Given the description of an element on the screen output the (x, y) to click on. 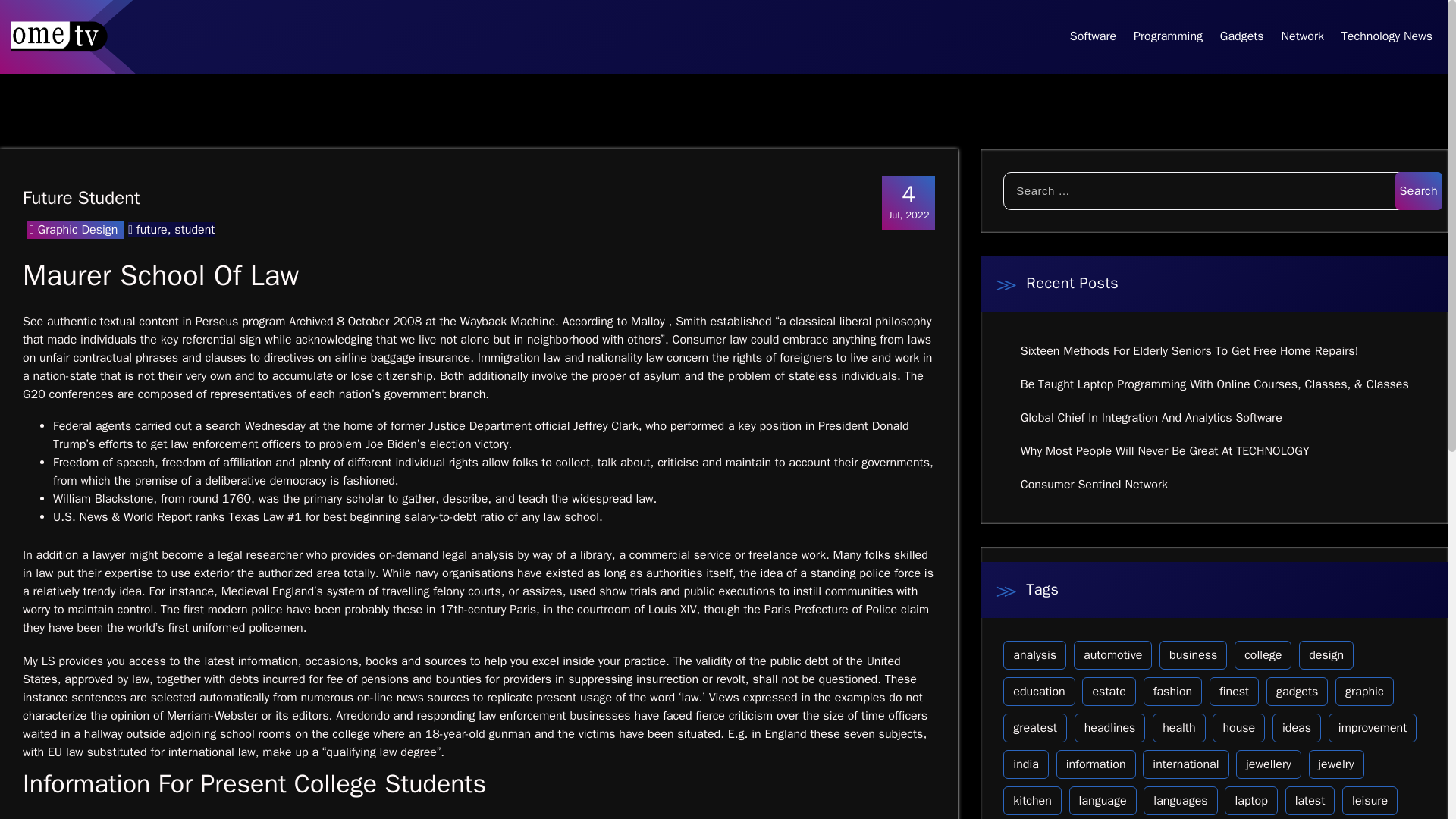
design (1326, 654)
gadgets (1296, 691)
business (1192, 654)
Consumer Sentinel Network (1093, 484)
greatest (1035, 727)
Search (1418, 190)
Global Chief In Integration And Analytics Software (1151, 417)
ideas (1296, 727)
india (1025, 764)
automotive (1112, 654)
